Given the description of an element on the screen output the (x, y) to click on. 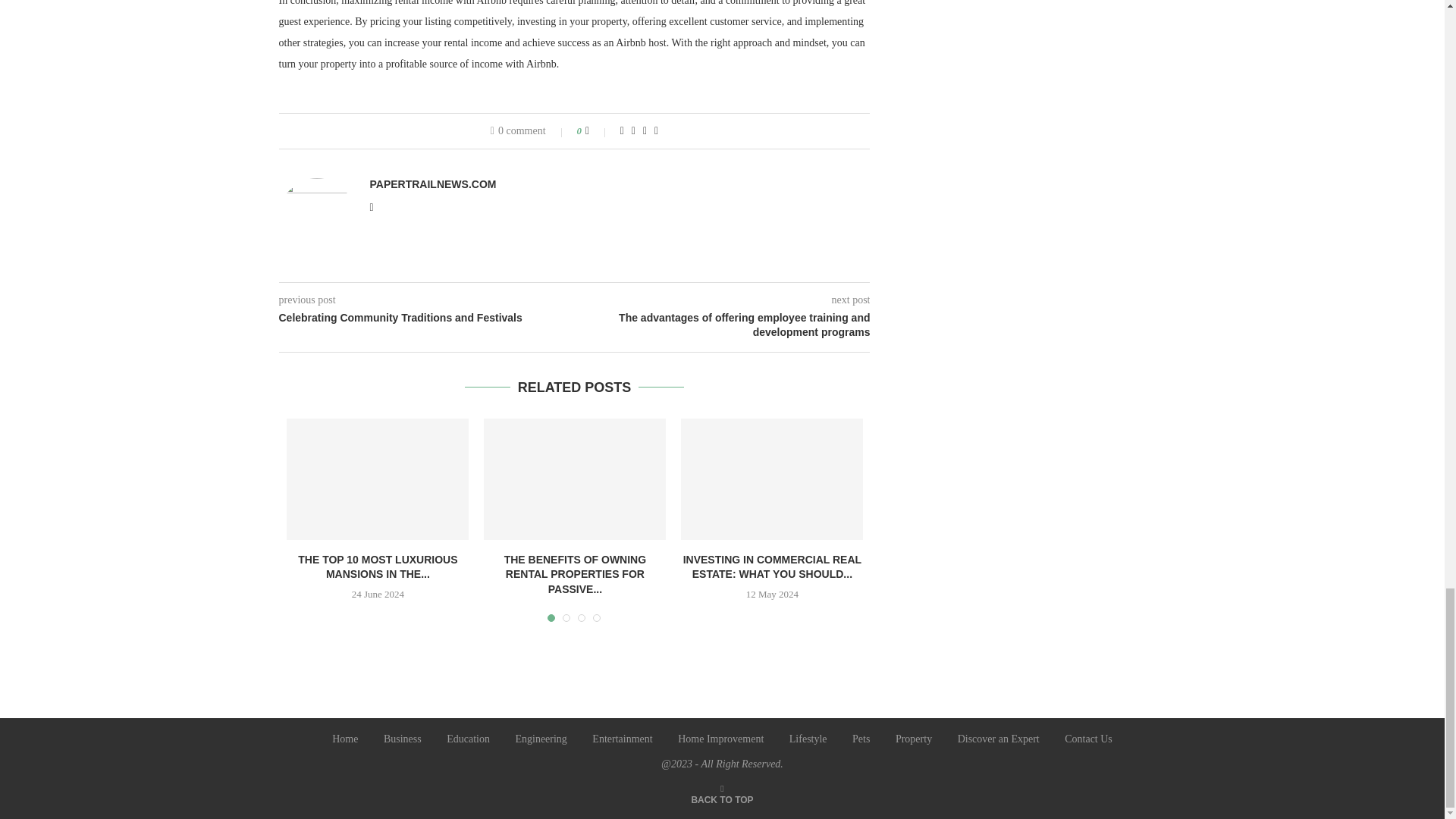
Like (597, 131)
The Top 10 Most Luxurious Mansions in the World (377, 478)
Author papertrailnews.com (432, 184)
Investing in commercial real estate: What you should know (772, 478)
The Benefits of Owning Rental Properties for Passive Income (574, 478)
